Given the description of an element on the screen output the (x, y) to click on. 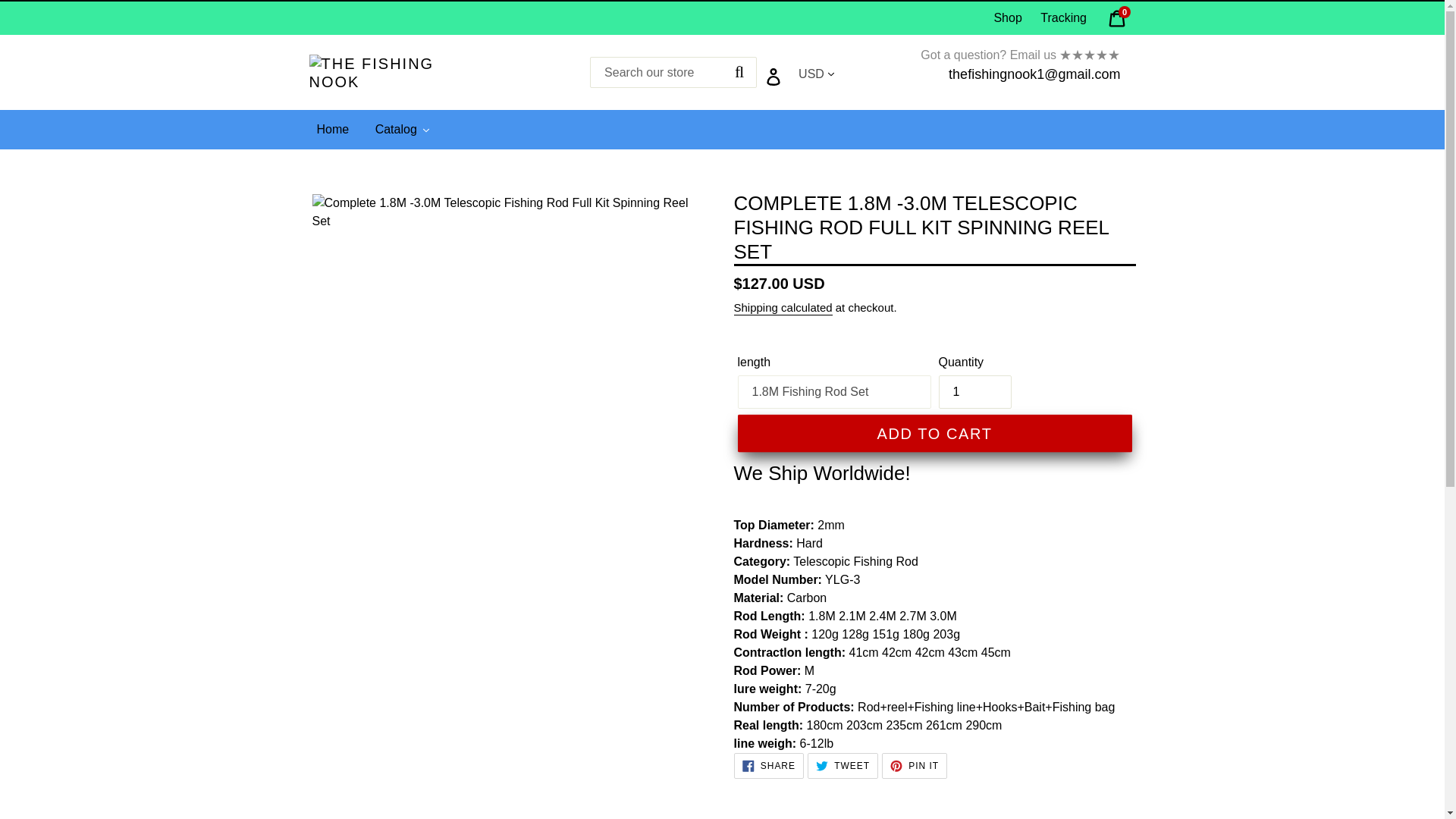
Shop (1007, 17)
Tracking (1063, 17)
Home (1117, 14)
1 (333, 129)
Log in (975, 391)
